Given the description of an element on the screen output the (x, y) to click on. 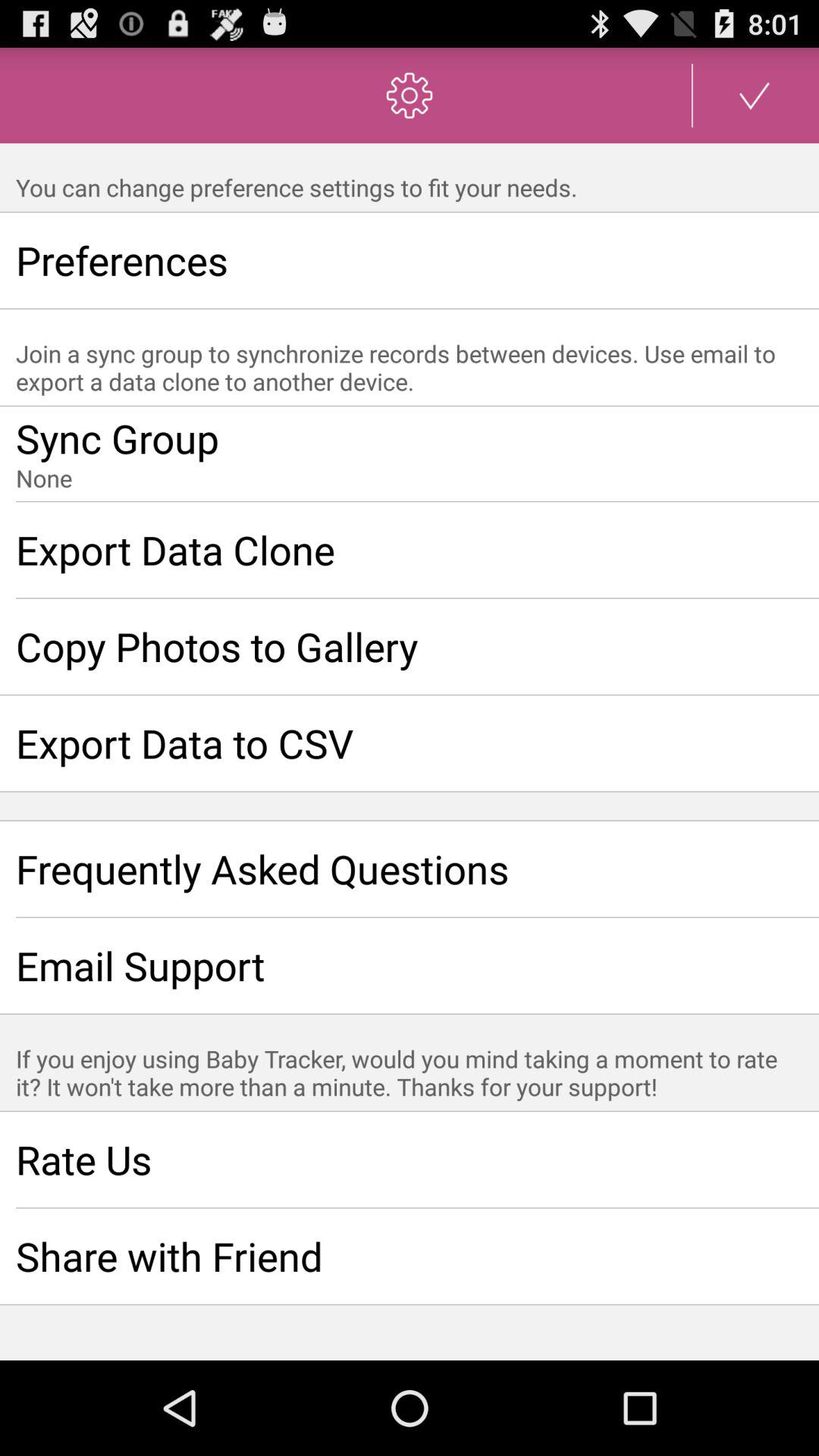
organize and merge data (409, 454)
